Given the description of an element on the screen output the (x, y) to click on. 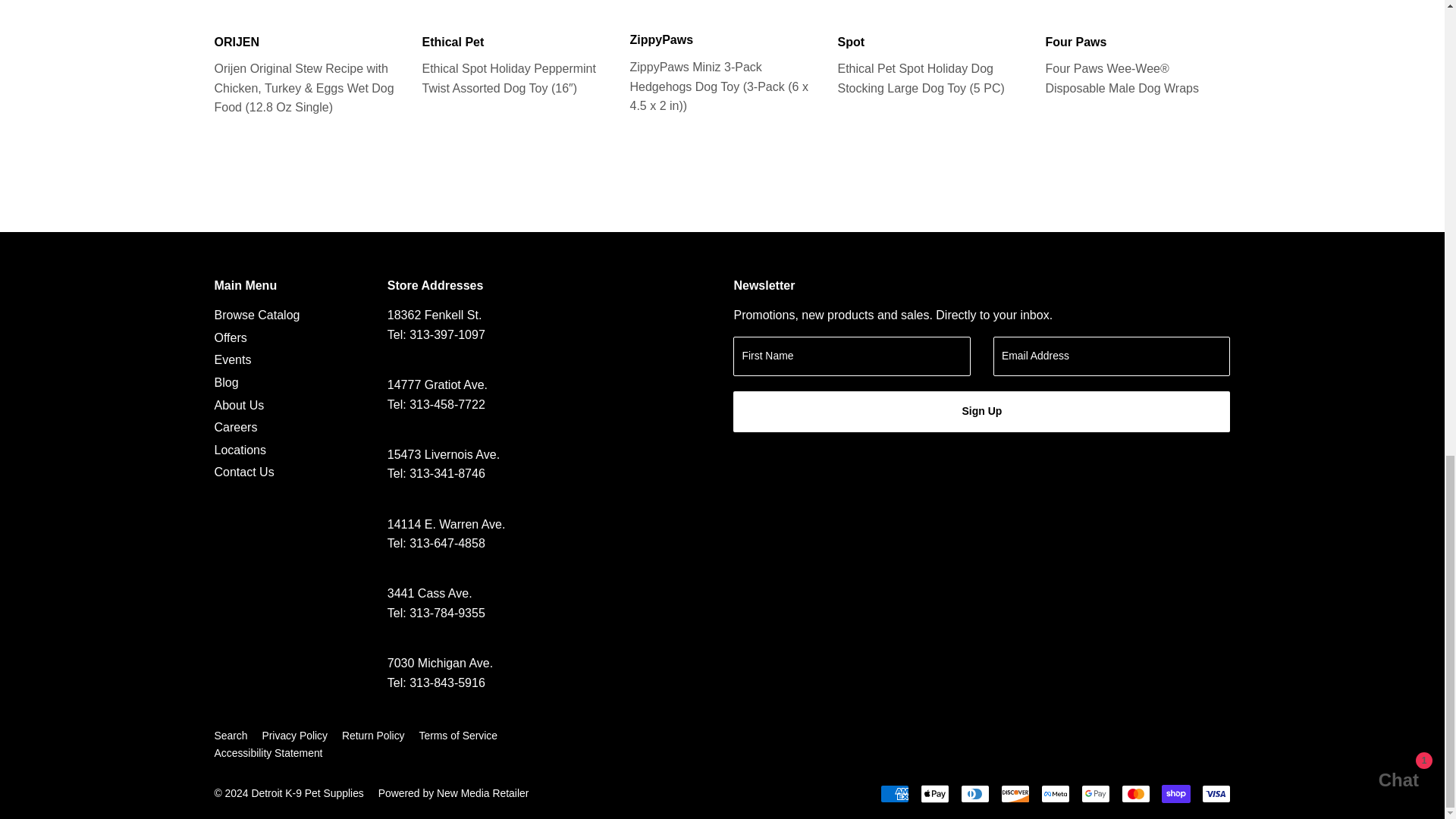
tel:313-458-7722 (446, 404)
Google Pay (1095, 793)
Shop Pay (1176, 793)
tel:313-341-8746 (446, 472)
Meta Pay (1054, 793)
tel:313-784-9355 (446, 612)
Discover (1015, 793)
Visa (1215, 793)
tel:313-647-4858 (446, 543)
Diners Club (973, 793)
New Media Retailer (453, 793)
Mastercard (1135, 793)
tel:313-397-1097 (446, 334)
Apple Pay (934, 793)
American Express (893, 793)
